Given the description of an element on the screen output the (x, y) to click on. 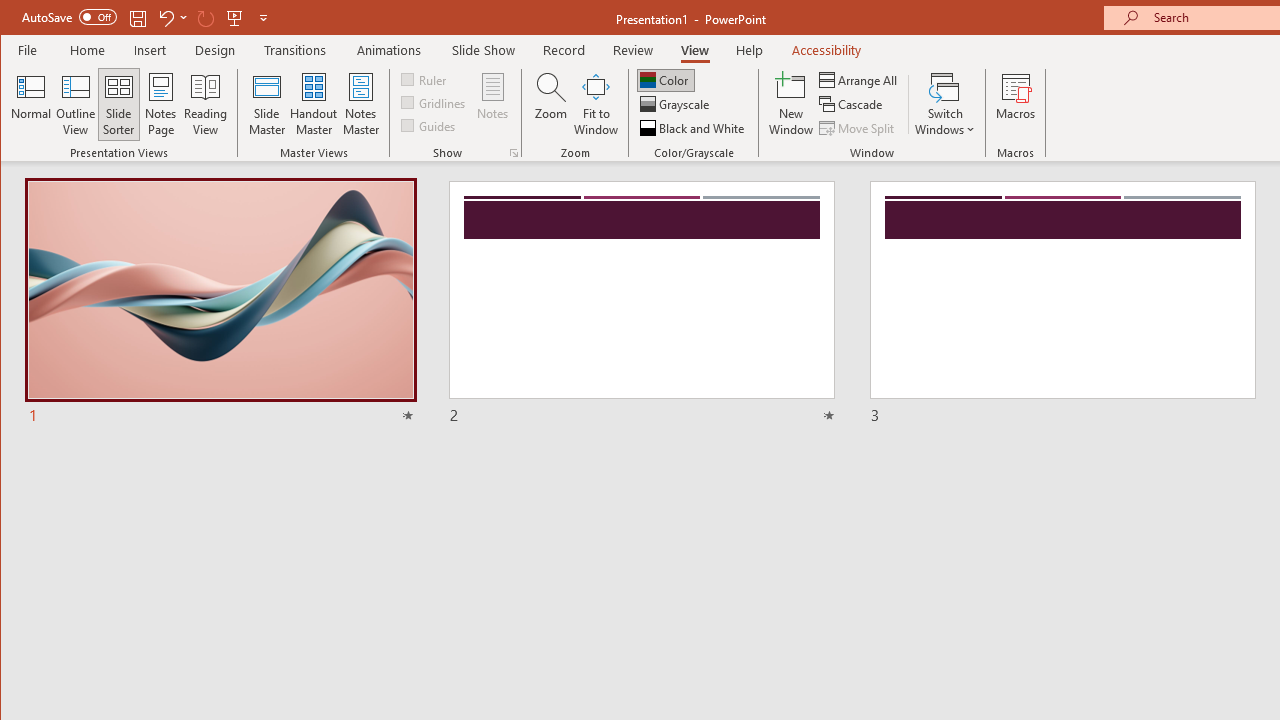
Notes Page (160, 104)
Guides (430, 124)
Slide Master (266, 104)
Ruler (425, 78)
Black and White (694, 127)
